Given the description of an element on the screen output the (x, y) to click on. 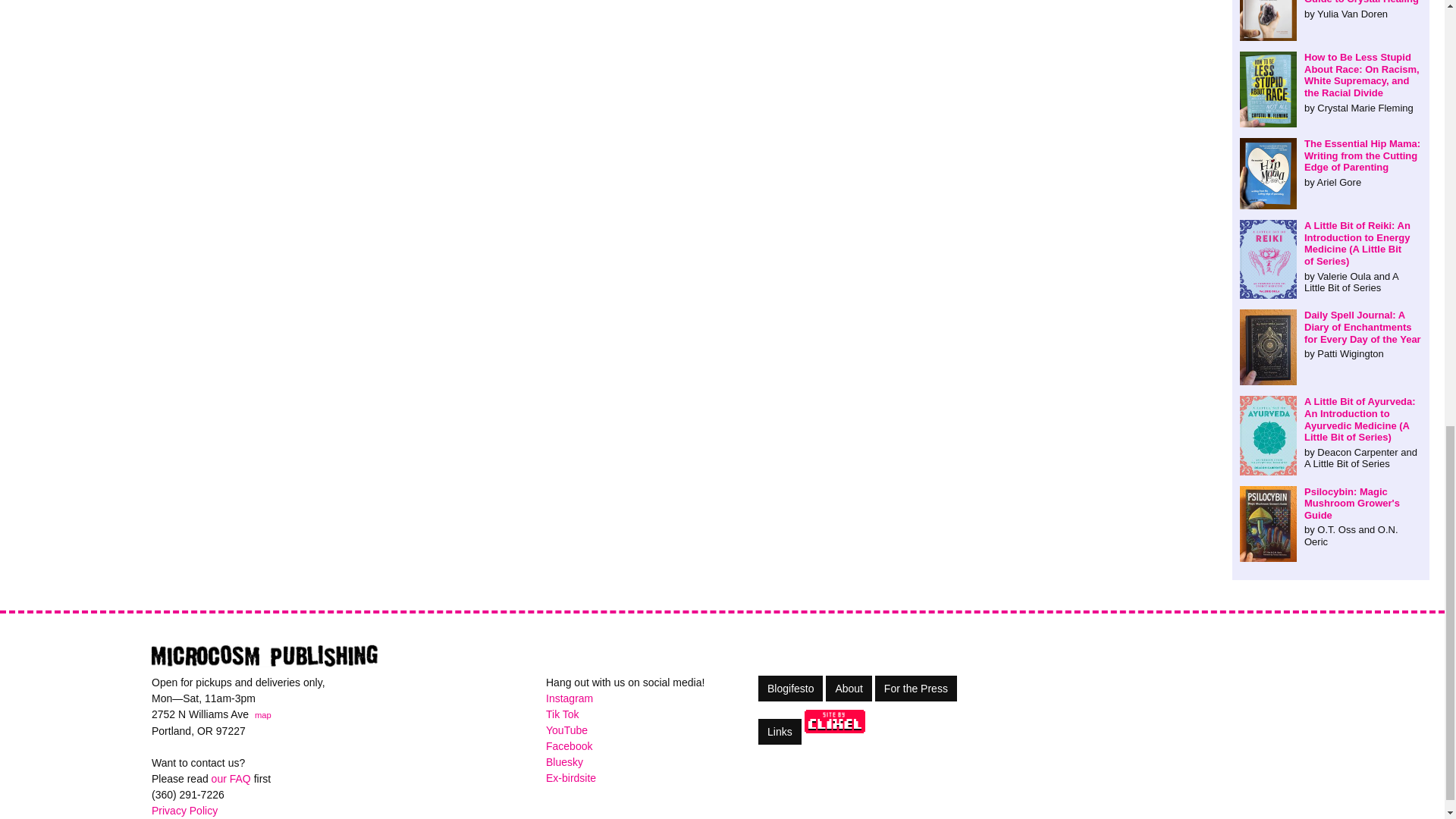
Crystals: The Modern Guide to Crystal Healing (1331, 10)
Psilocybin: Magic Mushroom Grower's Guide (1331, 516)
